Given the description of an element on the screen output the (x, y) to click on. 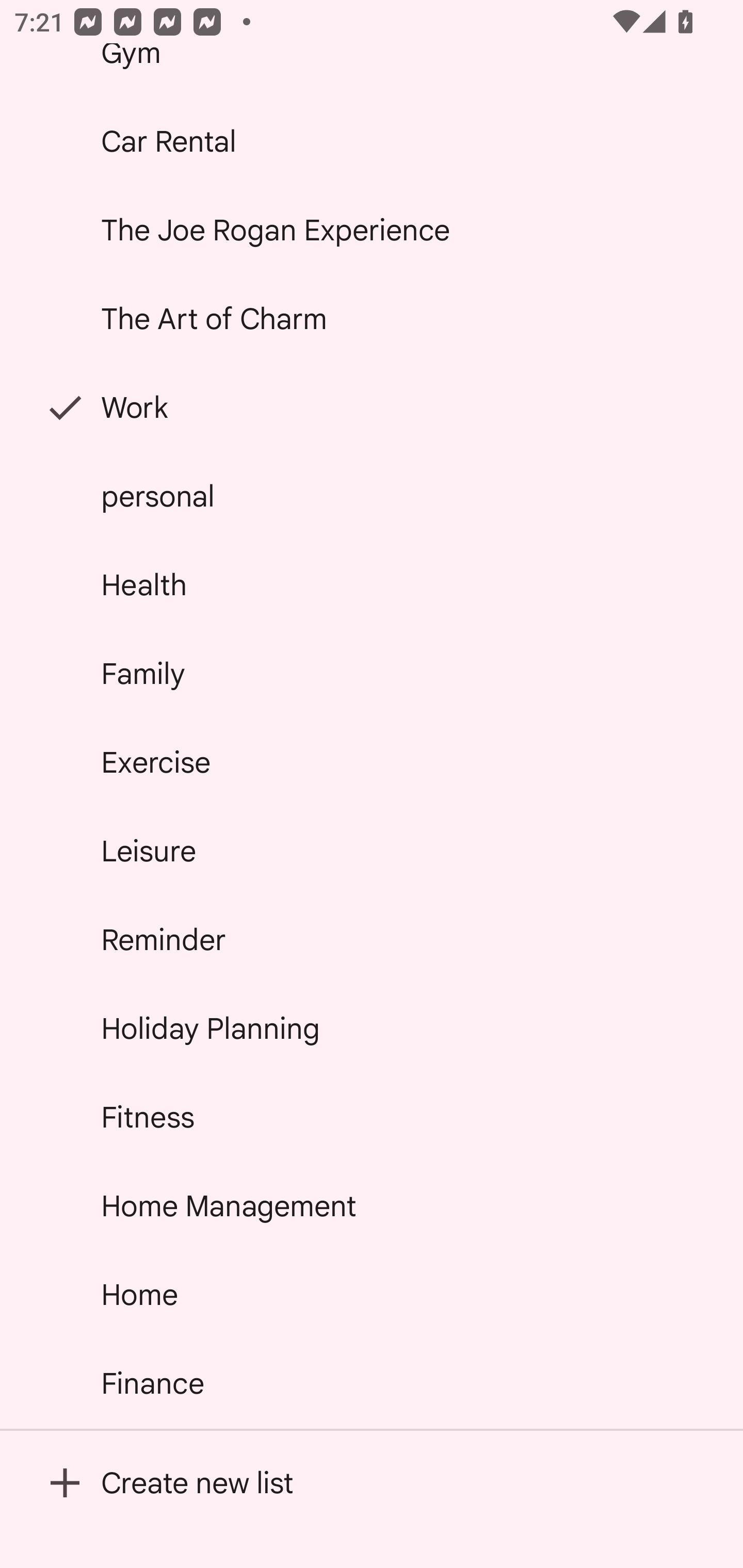
Car Rental (371, 141)
The Joe Rogan Experience (371, 229)
The Art of Charm (371, 318)
Work (371, 407)
personal (371, 496)
Health (371, 584)
Family (371, 673)
Exercise (371, 762)
Leisure (371, 850)
Reminder (371, 939)
Holiday Planning (371, 1028)
Fitness (371, 1117)
Home Management (371, 1205)
Home (371, 1294)
Finance (371, 1383)
Create new list (371, 1482)
